Given the description of an element on the screen output the (x, y) to click on. 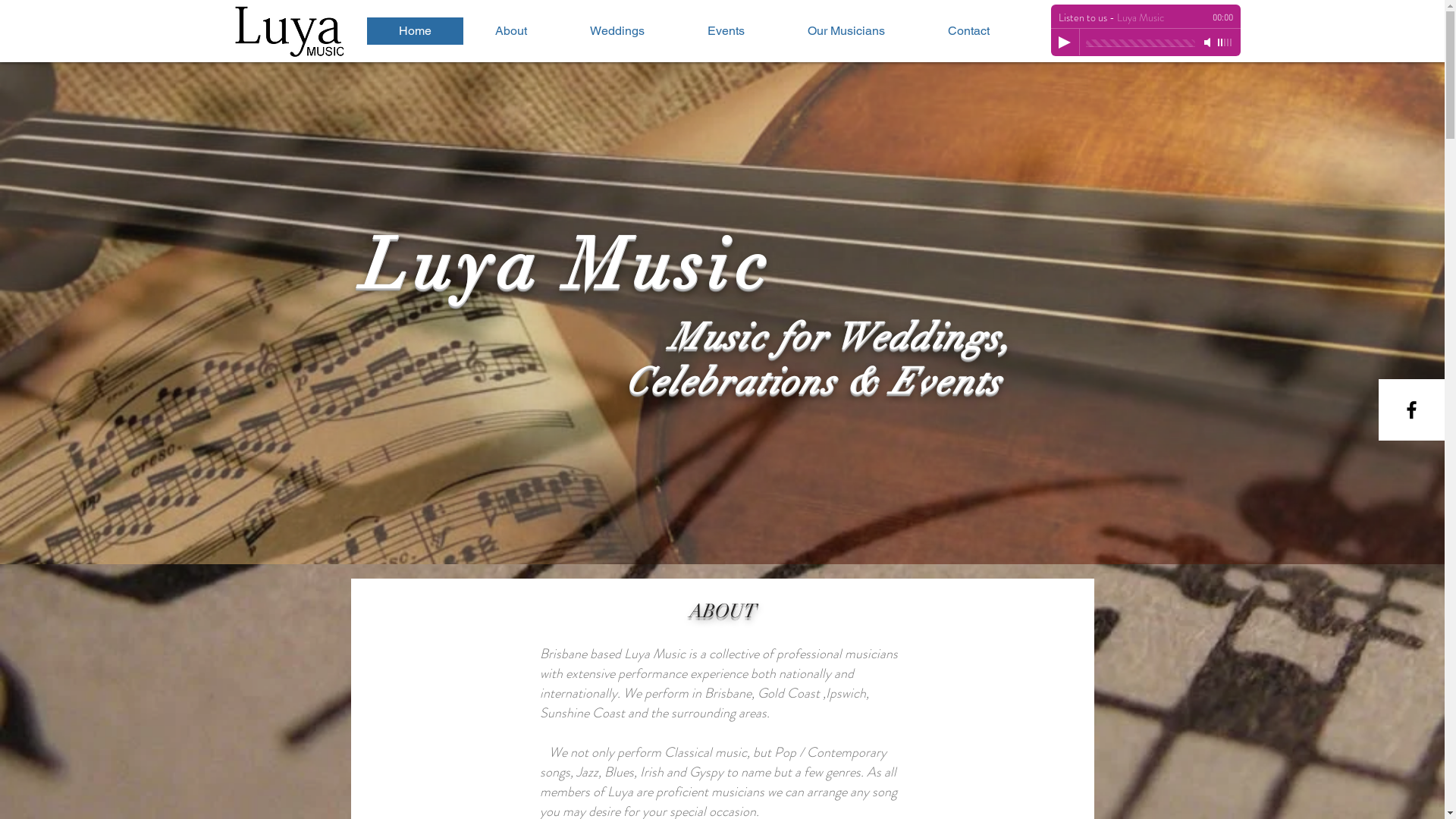
Our Musicians Element type: text (846, 30)
About Element type: text (510, 30)
Events Element type: text (726, 30)
Contact Element type: text (968, 30)
Home Element type: text (415, 30)
Weddings Element type: text (616, 30)
